Given the description of an element on the screen output the (x, y) to click on. 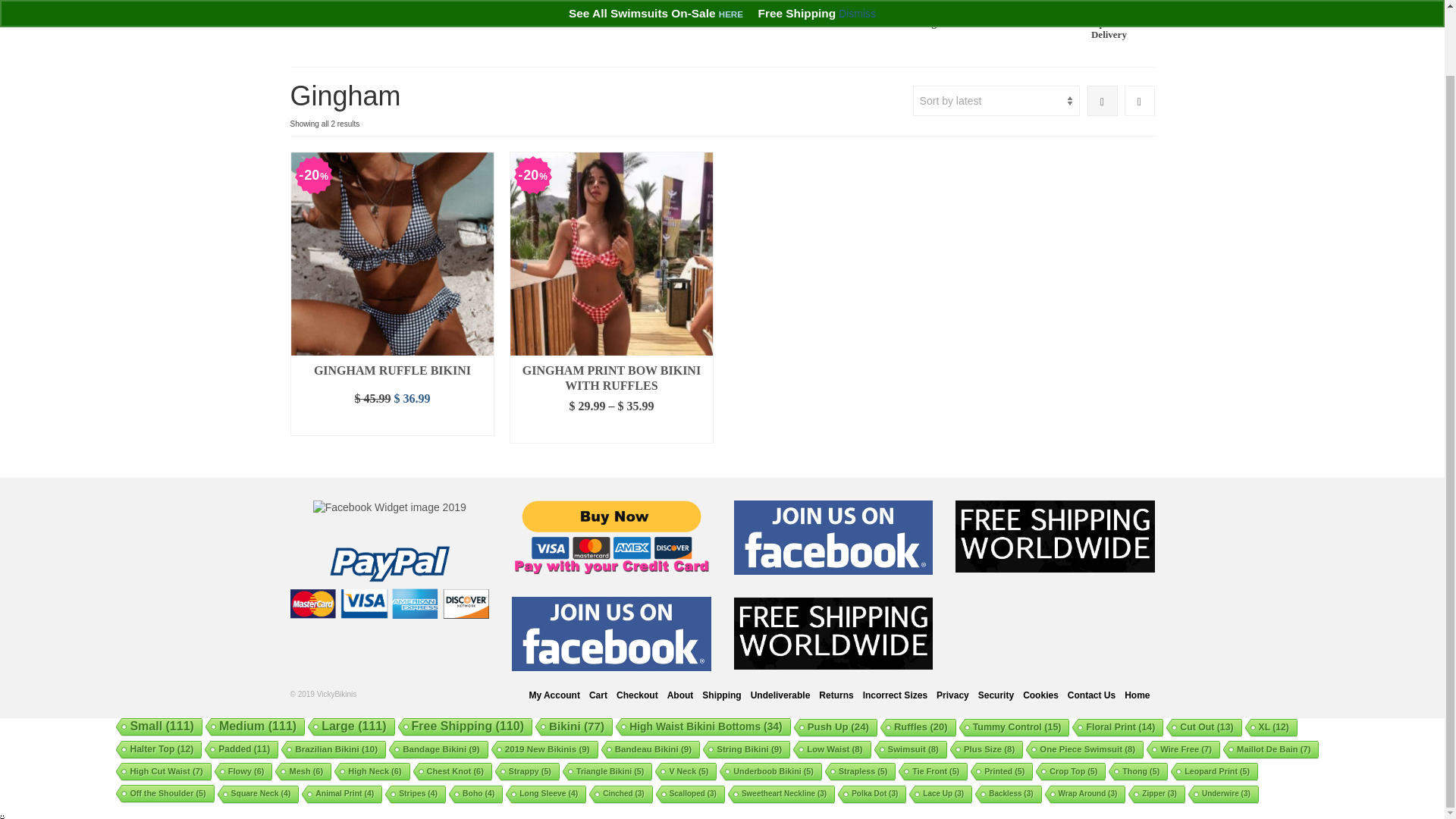
Contact Us (1090, 695)
List View (1139, 100)
Just Arrived (926, 4)
Cart (425, 11)
Cart (598, 695)
Home (334, 11)
Fun (1017, 22)
Privacy (952, 695)
Incorrect Sizes (895, 695)
Undeliverable (780, 695)
Full Size (1017, 4)
Full Figure (926, 22)
Security (995, 695)
Checkout (636, 695)
Cookies (1039, 695)
